Given the description of an element on the screen output the (x, y) to click on. 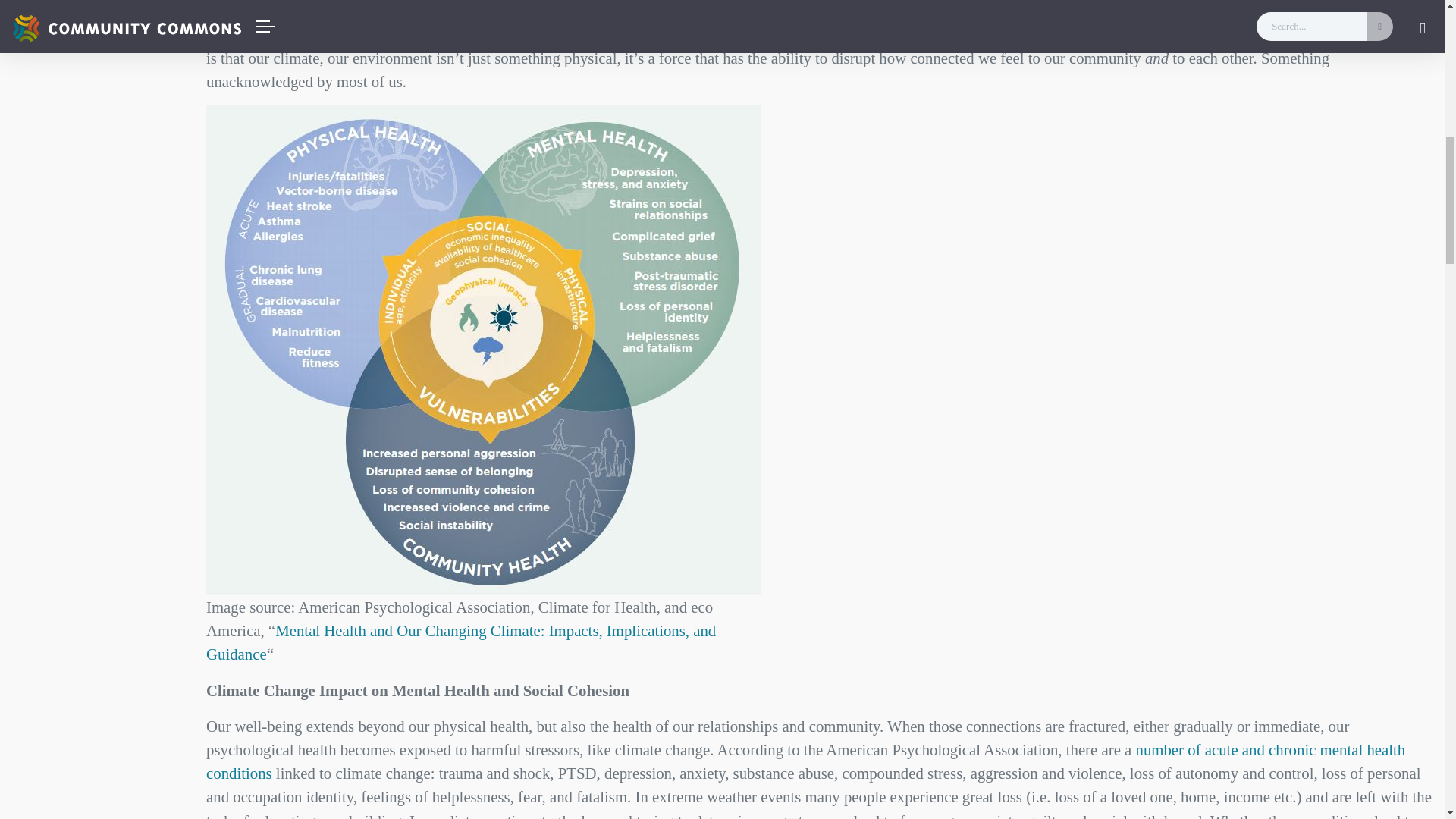
number of acute and chronic mental health conditions (805, 761)
health impacts of climate change (496, 9)
